Given the description of an element on the screen output the (x, y) to click on. 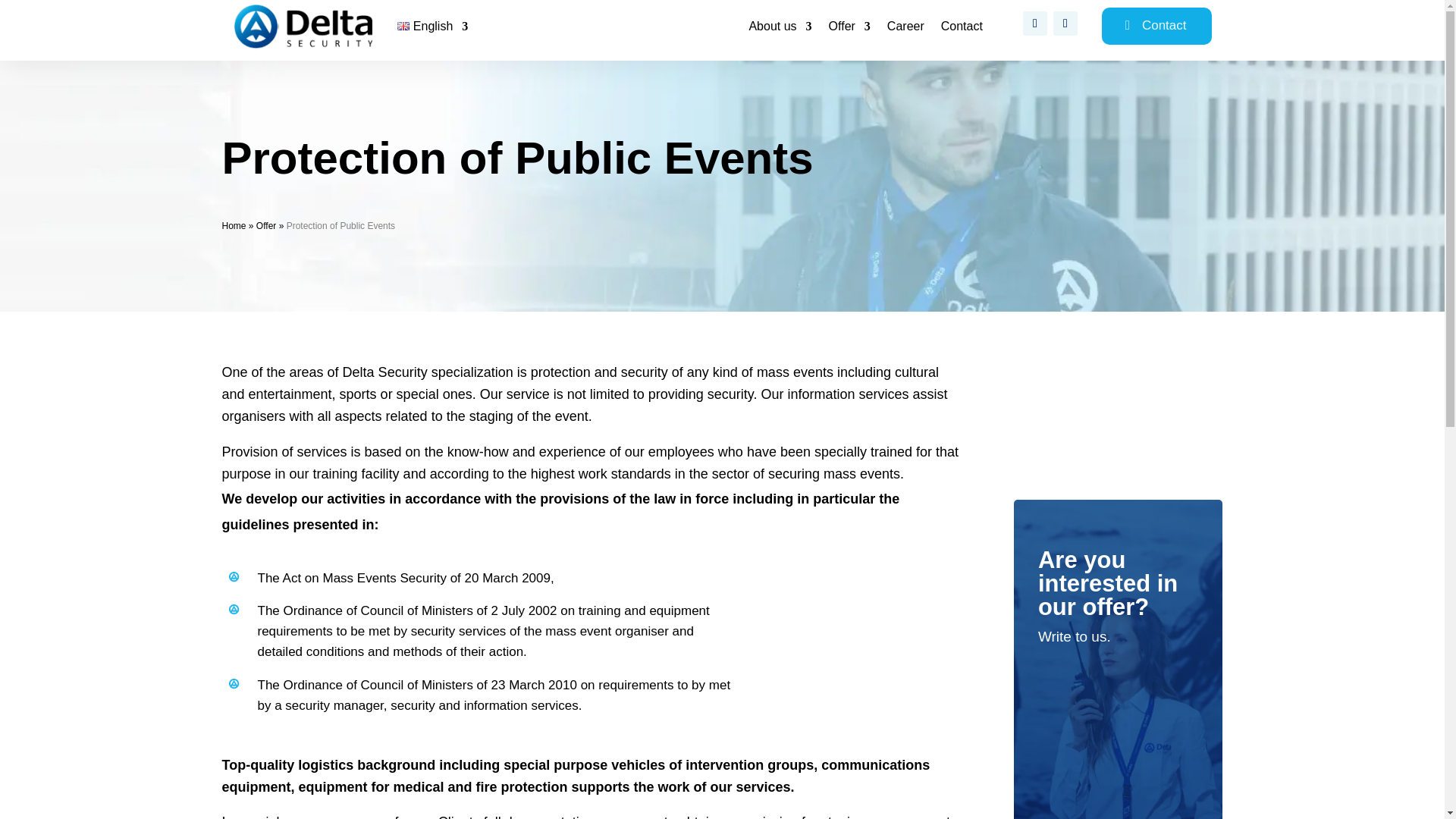
About us (779, 29)
Contact (961, 29)
Offer (266, 225)
Contact (1156, 26)
Follow on Facebook (1034, 23)
Career (905, 29)
Home (233, 225)
logo (302, 26)
Offer (849, 29)
Follow on LinkedIn (1064, 23)
English (432, 29)
